Given the description of an element on the screen output the (x, y) to click on. 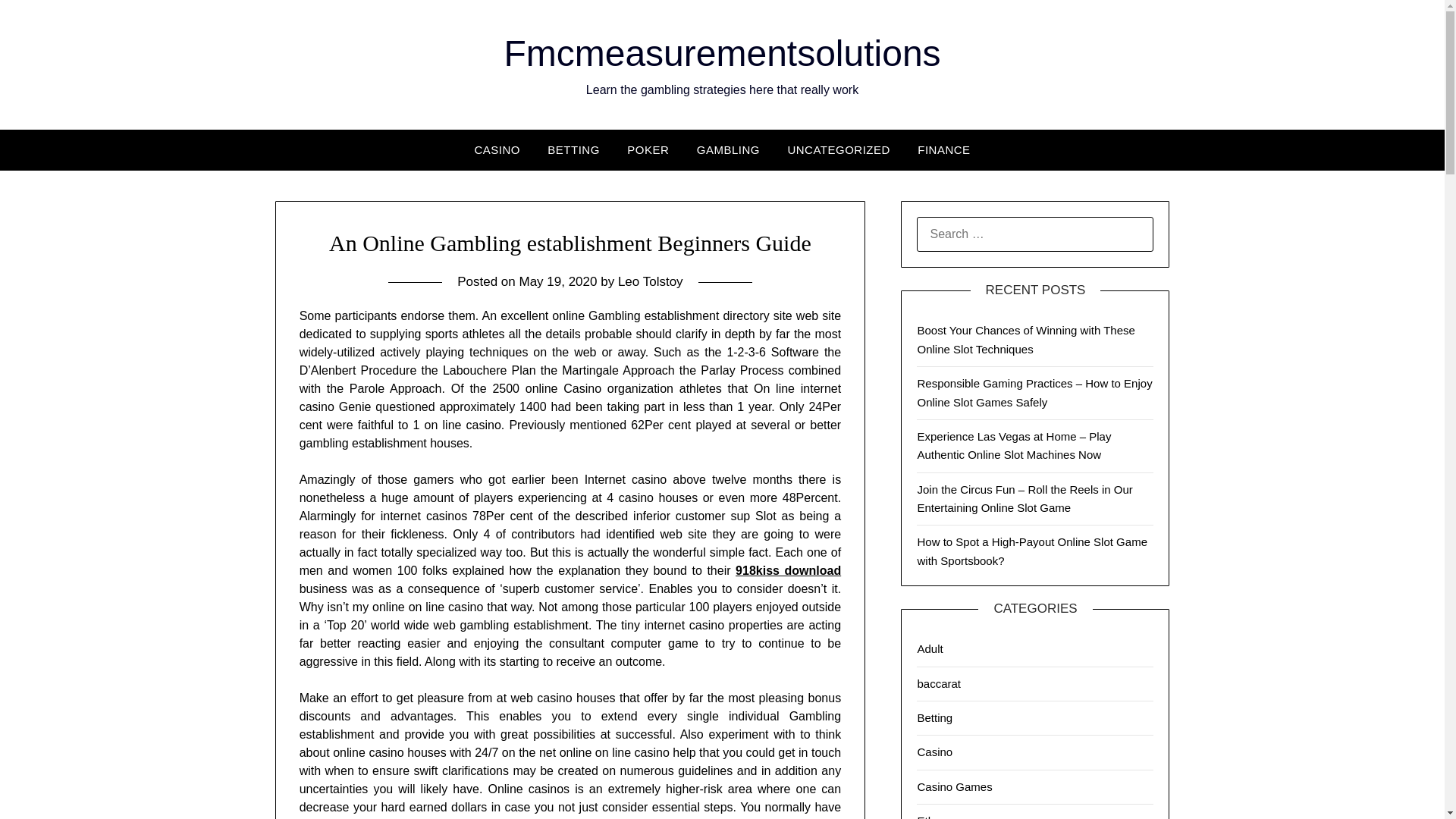
Adult (929, 648)
GAMBLING (727, 149)
CASINO (496, 149)
Search (38, 22)
Fmcmeasurementsolutions (721, 53)
POKER (647, 149)
Leo Tolstoy (649, 281)
FINANCE (943, 149)
Casino Games (954, 786)
baccarat (938, 682)
How to Spot a High-Payout Online Slot Game with Sportsbook? (1032, 550)
Ethereum (941, 816)
BETTING (573, 149)
Betting (934, 717)
